Given the description of an element on the screen output the (x, y) to click on. 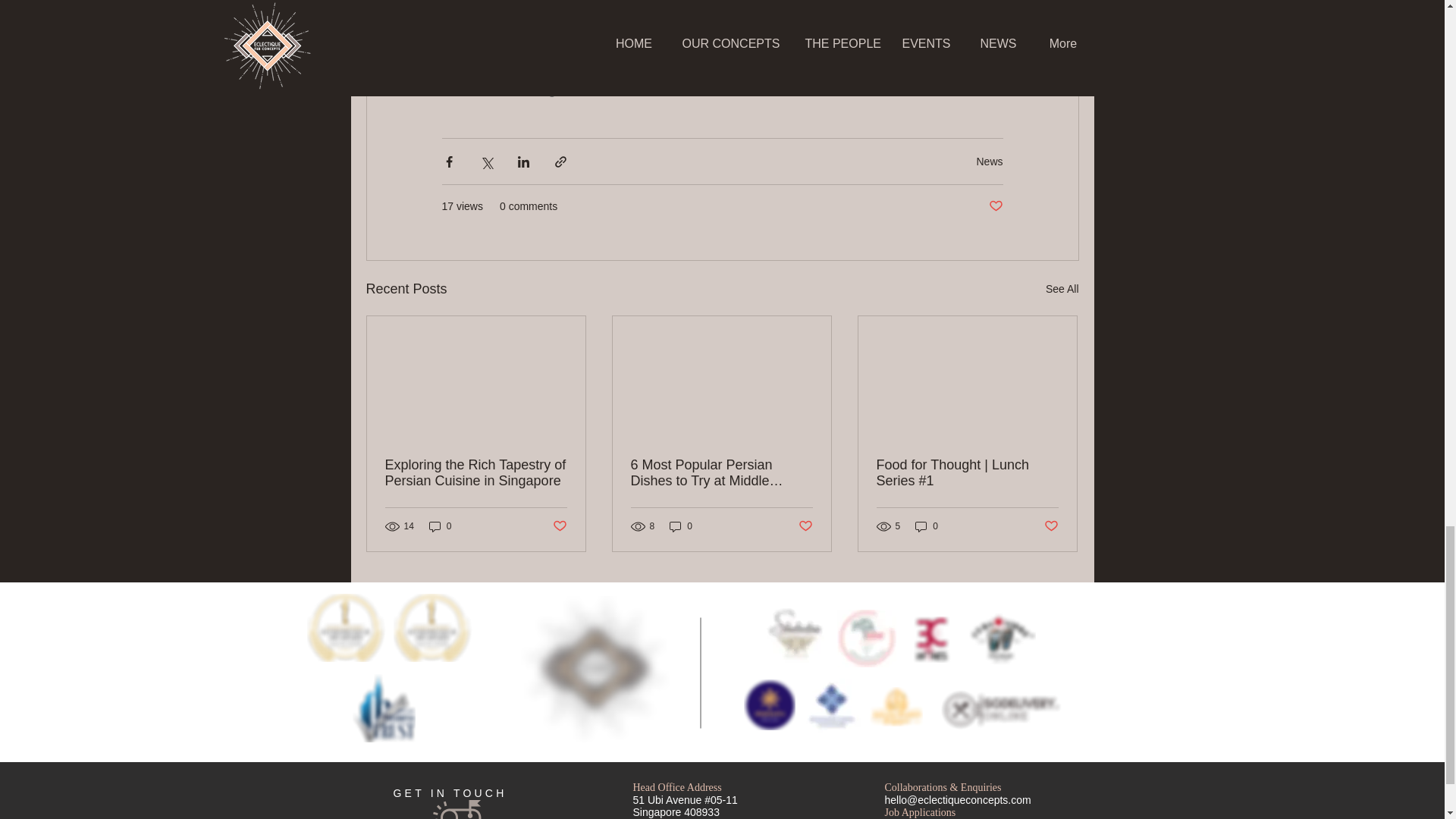
www.shabestan.sg (497, 89)
Post not marked as liked (804, 526)
See All (1061, 289)
0 (440, 526)
Post not marked as liked (995, 206)
Post not marked as liked (558, 526)
0 (681, 526)
News (989, 161)
Exploring the Rich Tapestry of Persian Cuisine in Singapore (476, 472)
